Given the description of an element on the screen output the (x, y) to click on. 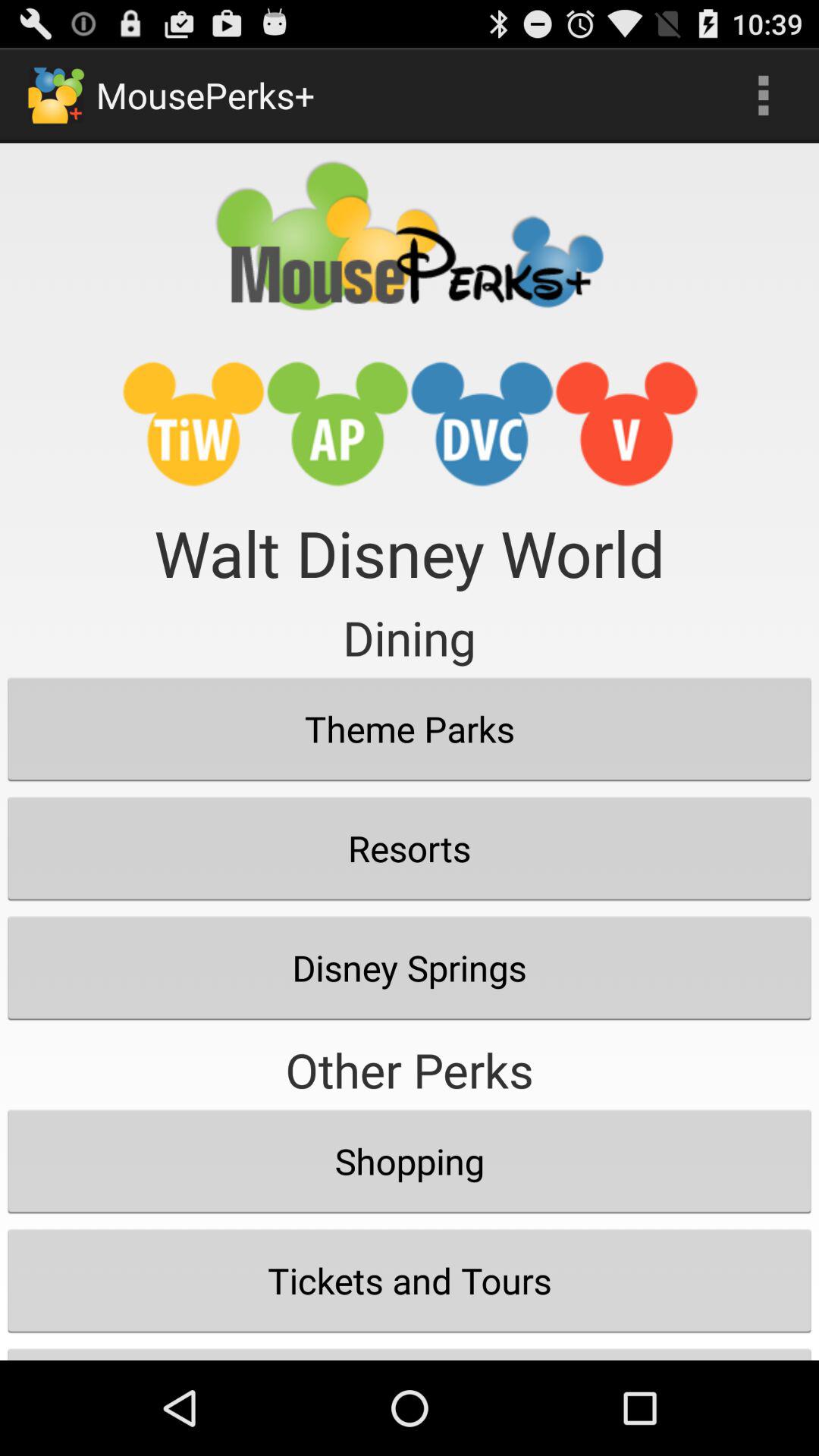
swipe to resorts button (409, 848)
